Given the description of an element on the screen output the (x, y) to click on. 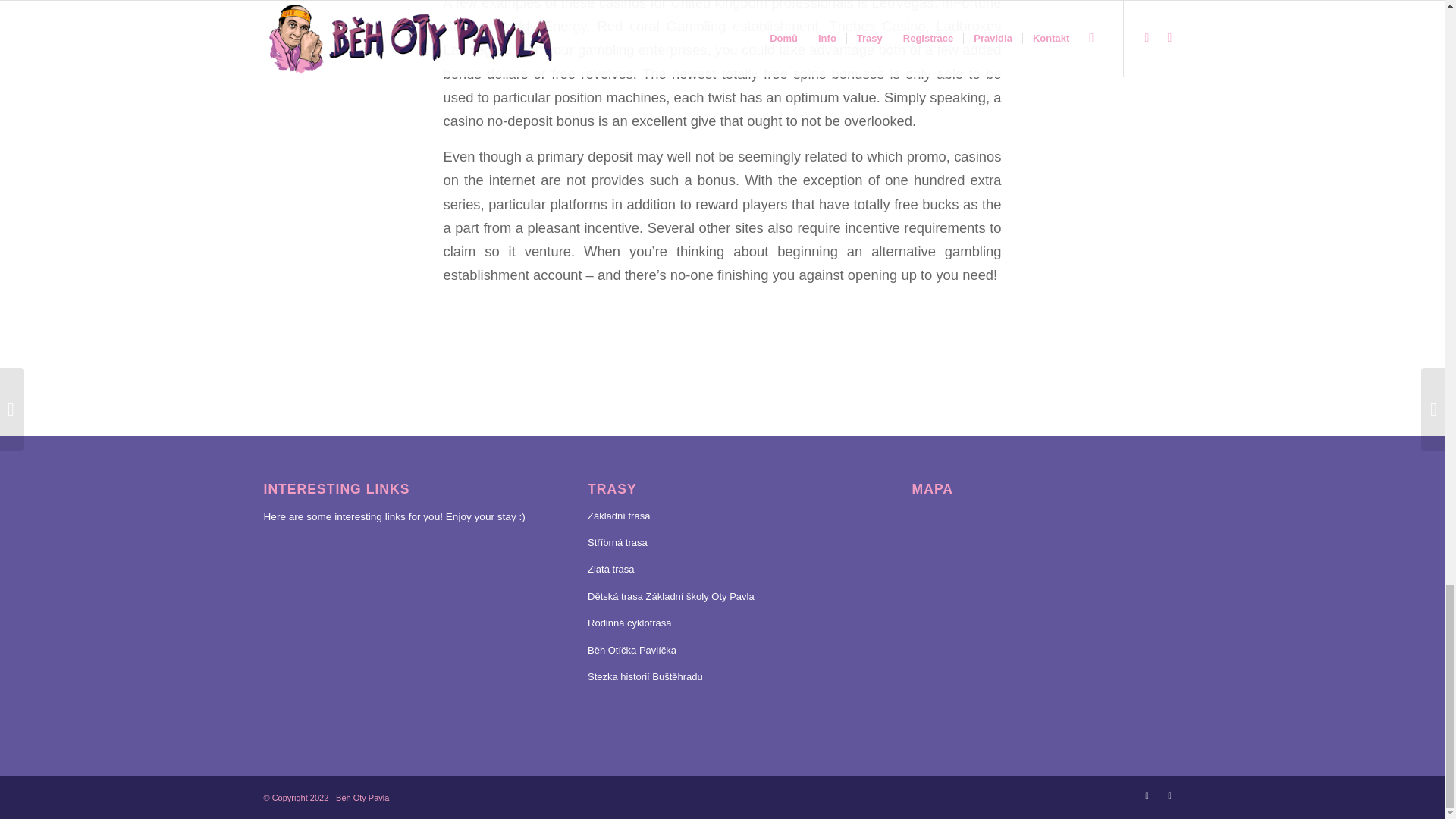
Strava (1169, 794)
Facebook (1146, 794)
